Given the description of an element on the screen output the (x, y) to click on. 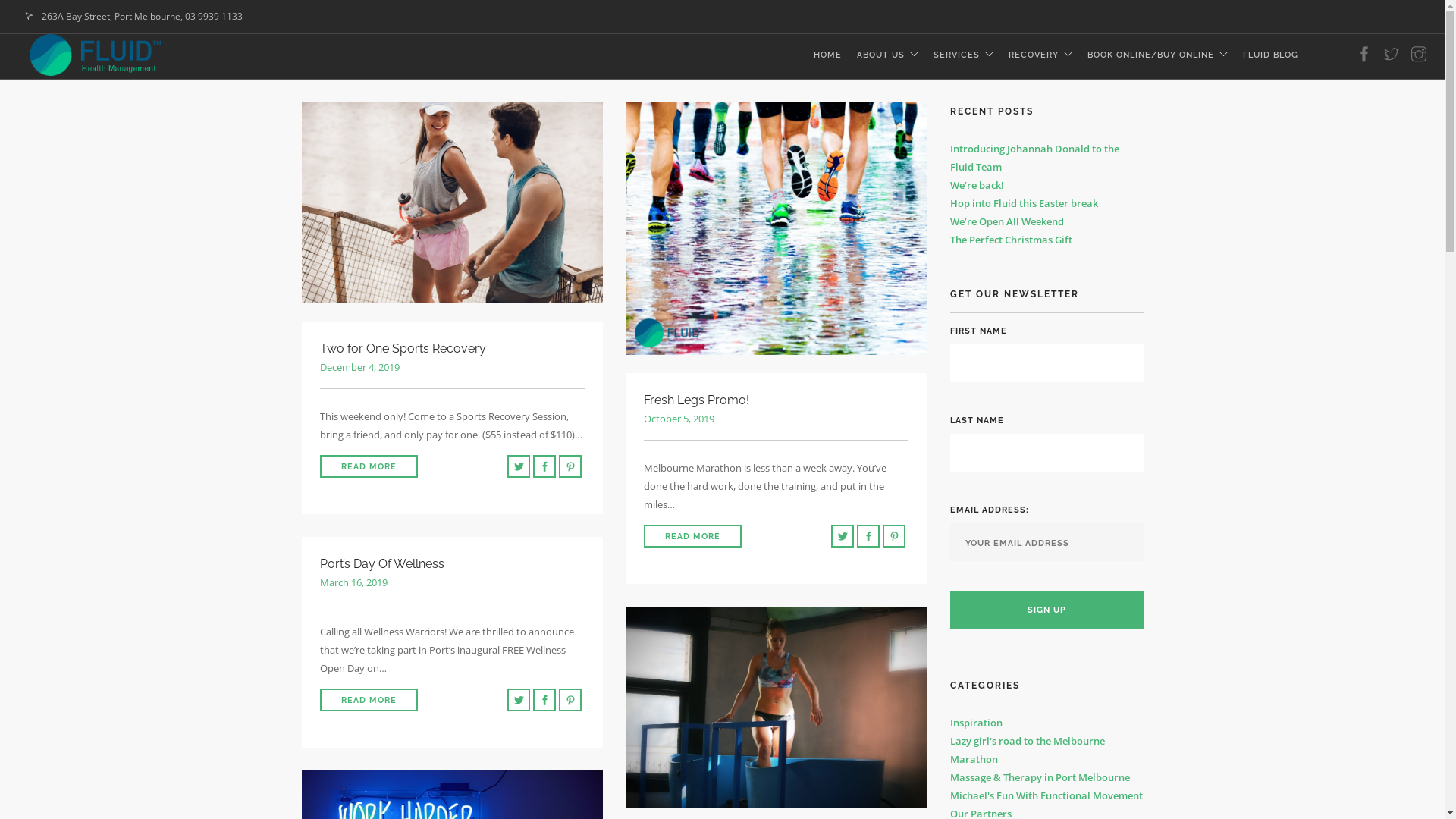
RECOVERY Element type: text (1033, 55)
Michael's Fun With Functional Movement Element type: text (1045, 795)
Sign up Element type: text (1045, 609)
Massage & Therapy in Port Melbourne Element type: text (1039, 777)
READ MORE Element type: text (368, 466)
ABOUT US Element type: text (880, 55)
READ MORE Element type: text (691, 535)
Introducing Johannah Donald to the Fluid Team Element type: text (1033, 157)
Fresh Legs Promo!
October 5, 2019 Element type: text (775, 408)
READ MORE Element type: text (368, 699)
FLUID BLOG Element type: text (1270, 55)
HOME Element type: text (827, 55)
BOOK ONLINE/BUY ONLINE Element type: text (1150, 55)
Two for One Sports Recovery
December 4, 2019 Element type: text (452, 356)
SERVICES Element type: text (956, 55)
Hop into Fluid this Easter break Element type: text (1023, 203)
Lazy girl's road to the Melbourne Marathon Element type: text (1026, 749)
The Perfect Christmas Gift Element type: text (1010, 239)
Inspiration Element type: text (975, 722)
